Given the description of an element on the screen output the (x, y) to click on. 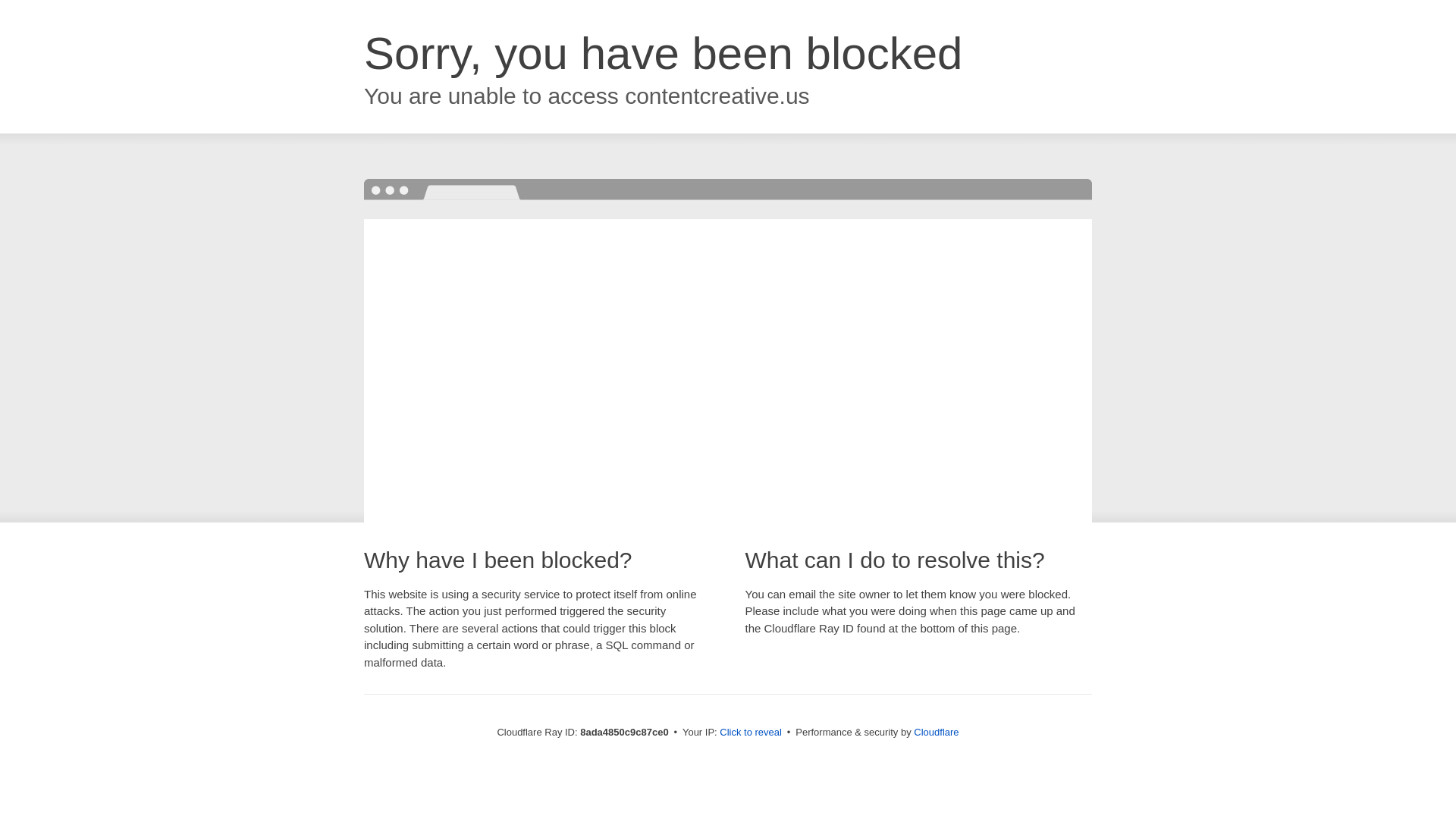
Click to reveal (750, 732)
Cloudflare (936, 731)
